Given the description of an element on the screen output the (x, y) to click on. 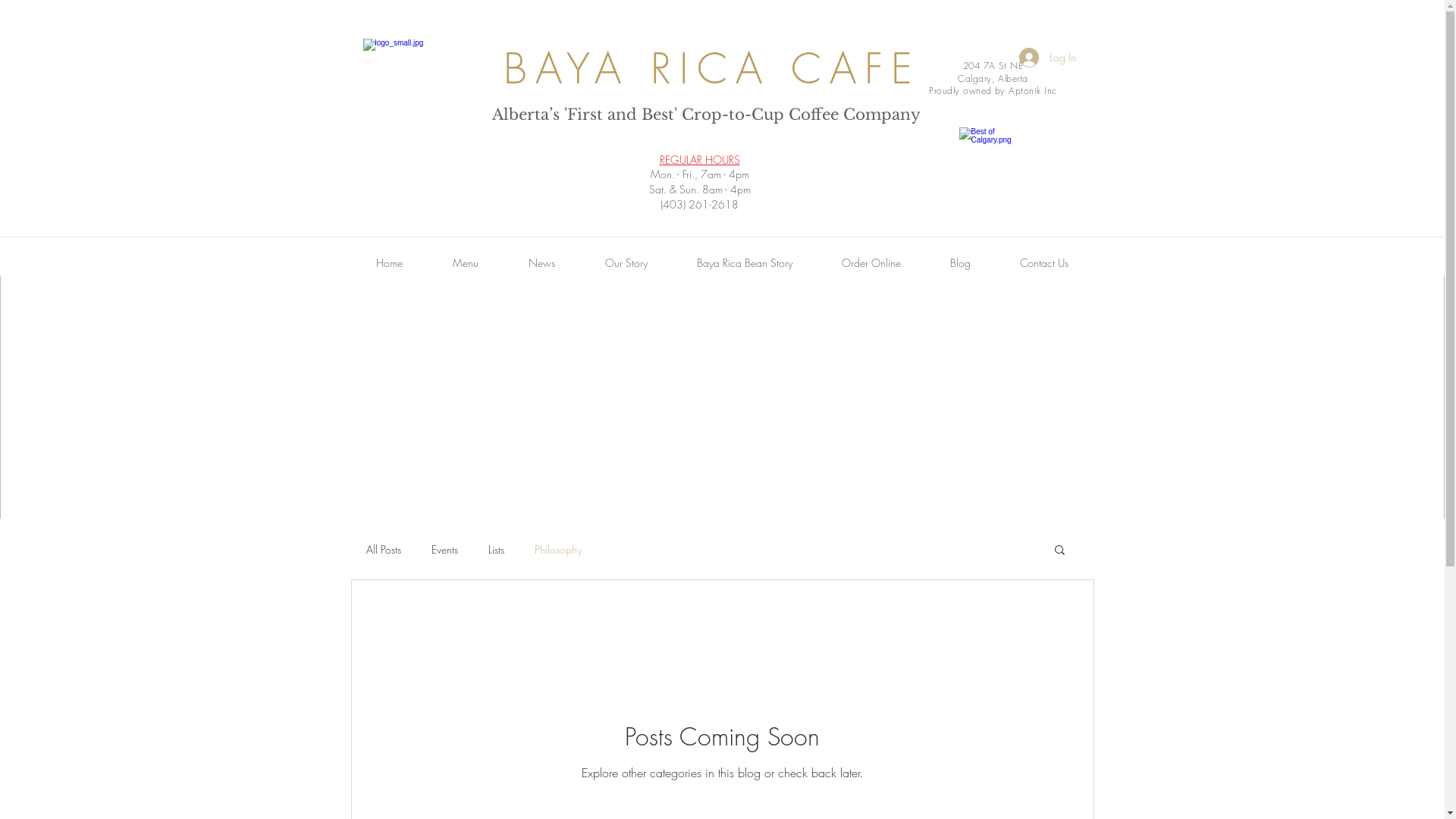
Lists Element type: text (496, 549)
All Posts Element type: text (382, 549)
Our Story Element type: text (625, 262)
Baya Rica Bean Story Element type: text (743, 262)
Philosophy Element type: text (556, 549)
Blog Element type: text (959, 262)
Order Online Element type: text (871, 262)
Home Element type: text (388, 262)
Menu Element type: text (465, 262)
News Element type: text (541, 262)
BAYA RICA CAFE Element type: text (711, 68)
Log In Element type: text (1047, 57)
Contact Us Element type: text (1043, 262)
Events Element type: text (443, 549)
